Given the description of an element on the screen output the (x, y) to click on. 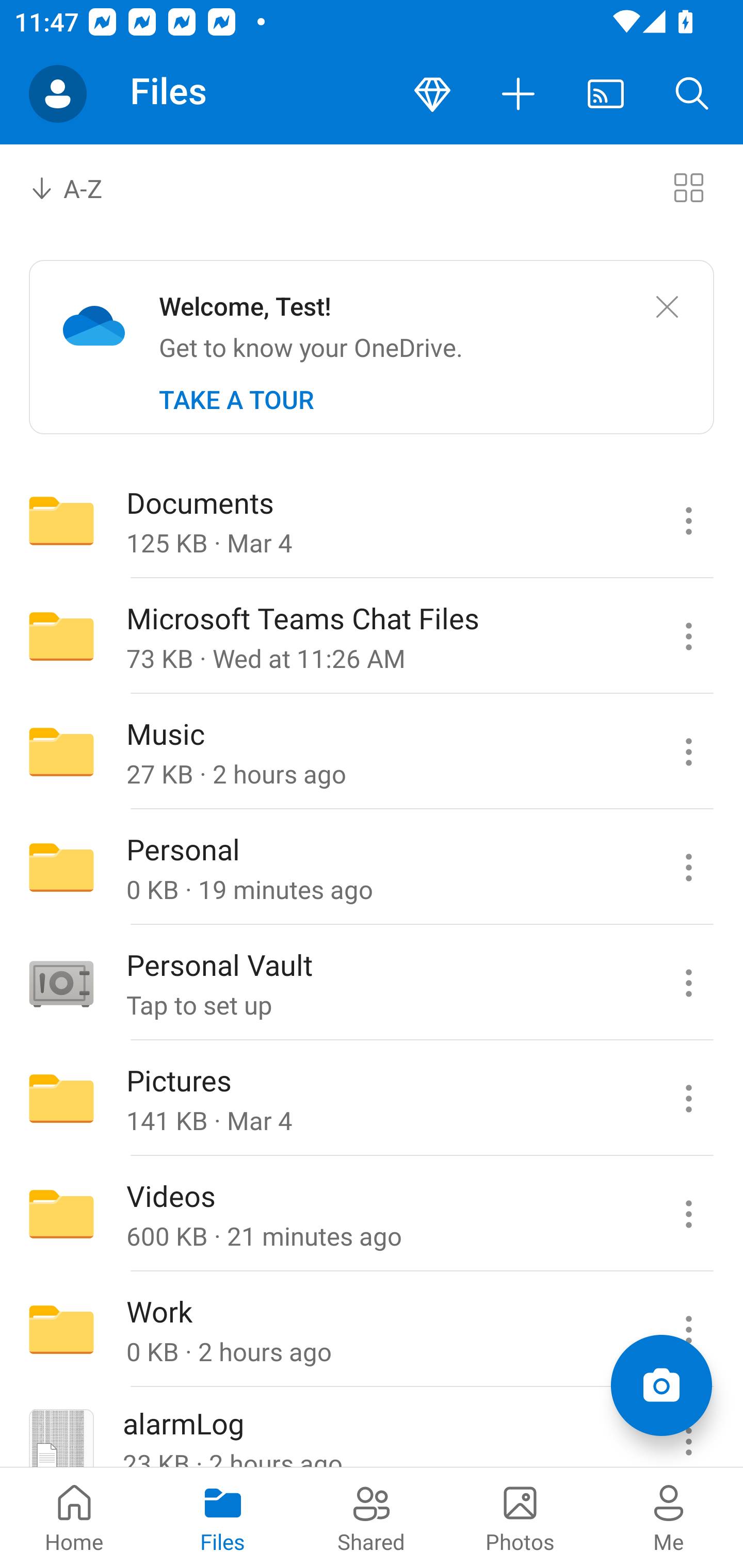
Account switcher (57, 93)
Cast. Disconnected (605, 93)
Premium button (432, 93)
More actions button (518, 93)
Search button (692, 93)
A-Z Sort by combo box, sort by name, A to Z (80, 187)
Switch to tiles view (688, 187)
Close (667, 307)
TAKE A TOUR (236, 399)
Folder Documents 125 KB · Mar 4 Documents commands (371, 520)
Documents commands (688, 520)
Microsoft Teams Chat Files commands (688, 636)
Folder Music 27 KB · 2 hours ago Music commands (371, 751)
Music commands (688, 751)
Personal commands (688, 867)
Personal Vault commands (688, 983)
Folder Pictures 141 KB · Mar 4 Pictures commands (371, 1099)
Pictures commands (688, 1099)
Videos commands (688, 1214)
Folder Work 0 KB · 2 hours ago Work commands (371, 1329)
Work commands (688, 1329)
Add items Scan (660, 1385)
alarmLog commands (688, 1427)
Home pivot Home (74, 1517)
Shared pivot Shared (371, 1517)
Photos pivot Photos (519, 1517)
Me pivot Me (668, 1517)
